Given the description of an element on the screen output the (x, y) to click on. 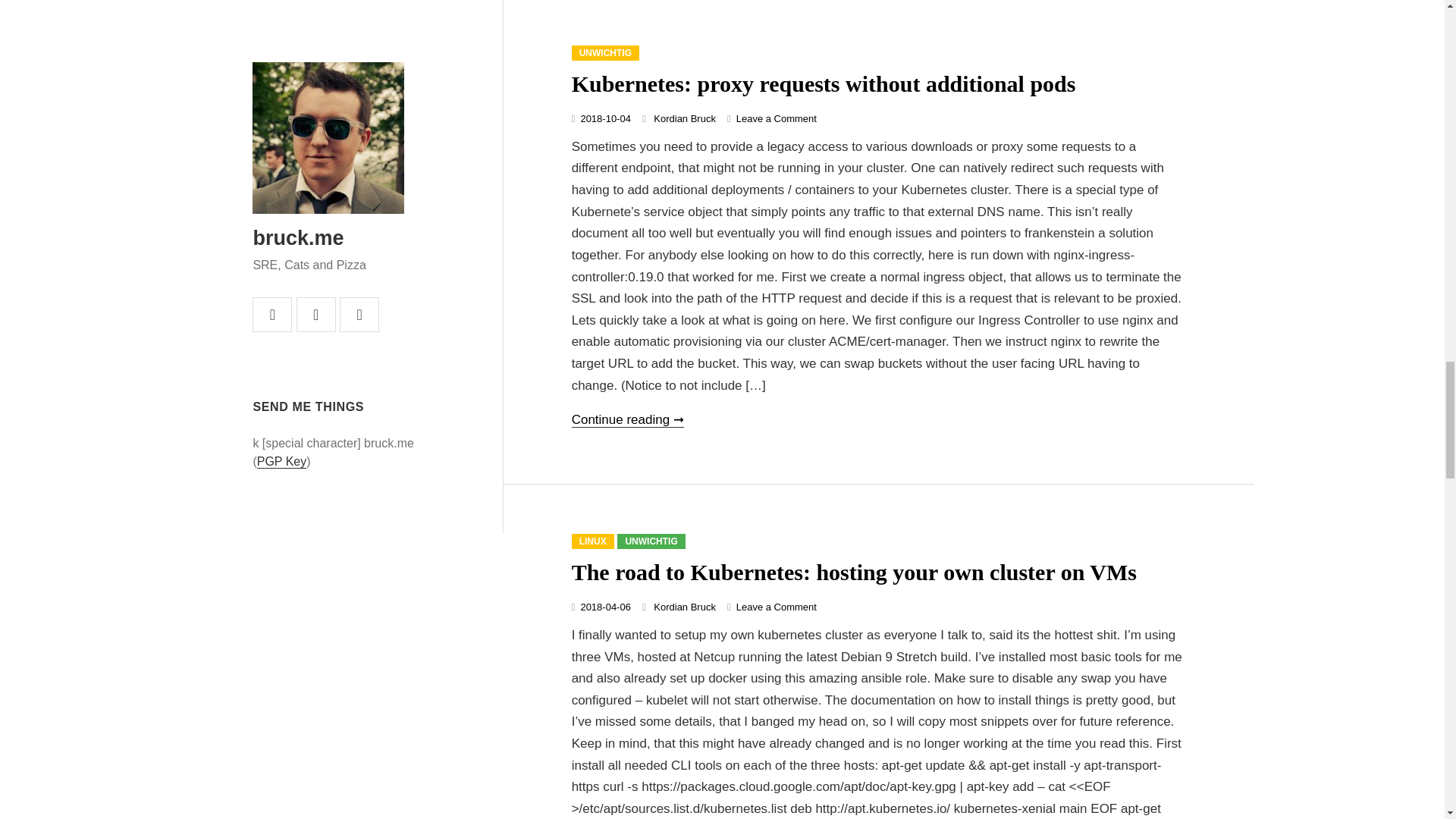
LINUX (593, 540)
UNWICHTIG (605, 52)
UNWICHTIG (650, 540)
2018-10-04 (604, 118)
Kubernetes: proxy requests without additional pods (823, 83)
Kordian Bruck (684, 118)
